Given the description of an element on the screen output the (x, y) to click on. 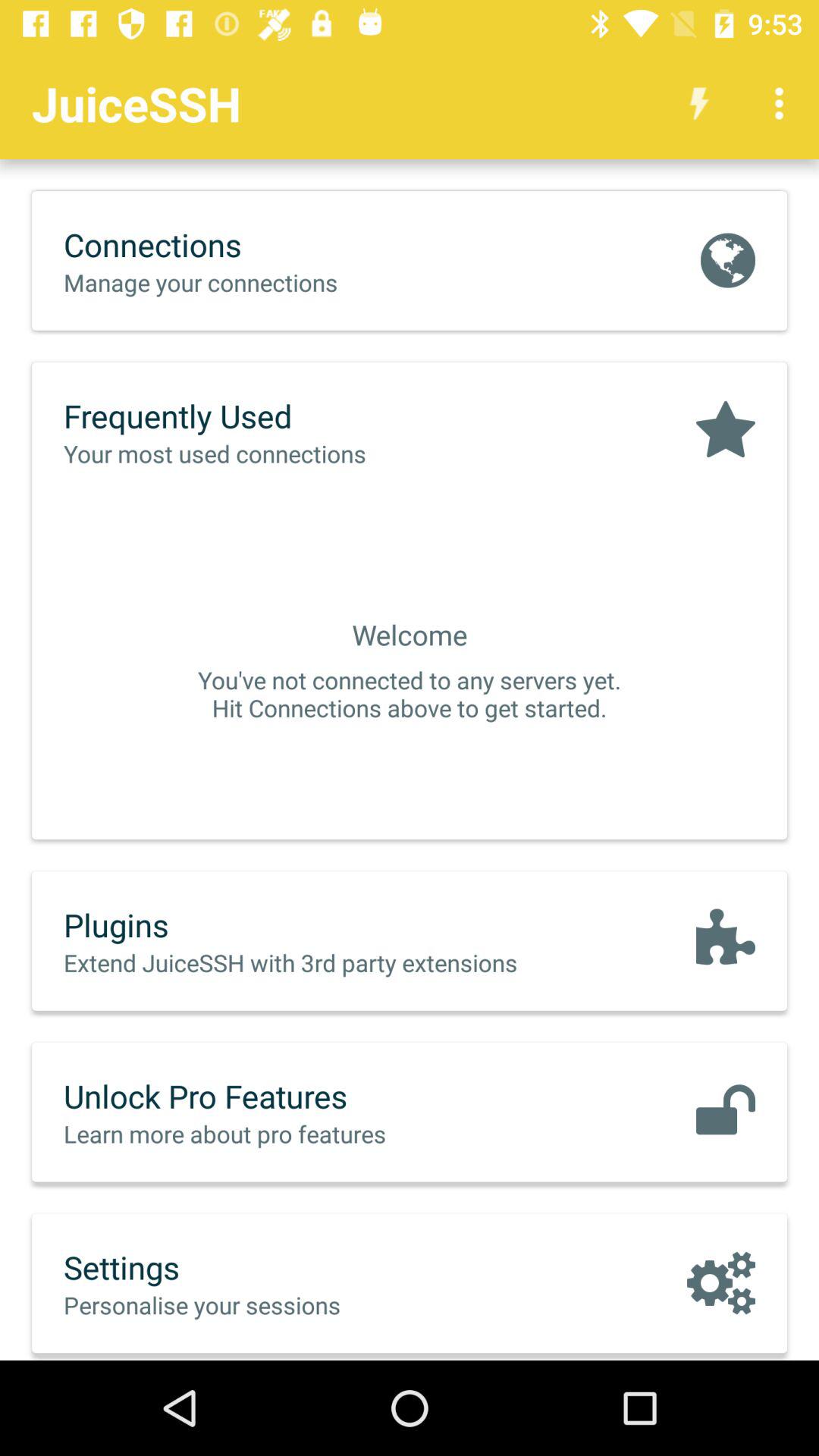
swipe to frequently used item (246, 415)
